Given the description of an element on the screen output the (x, y) to click on. 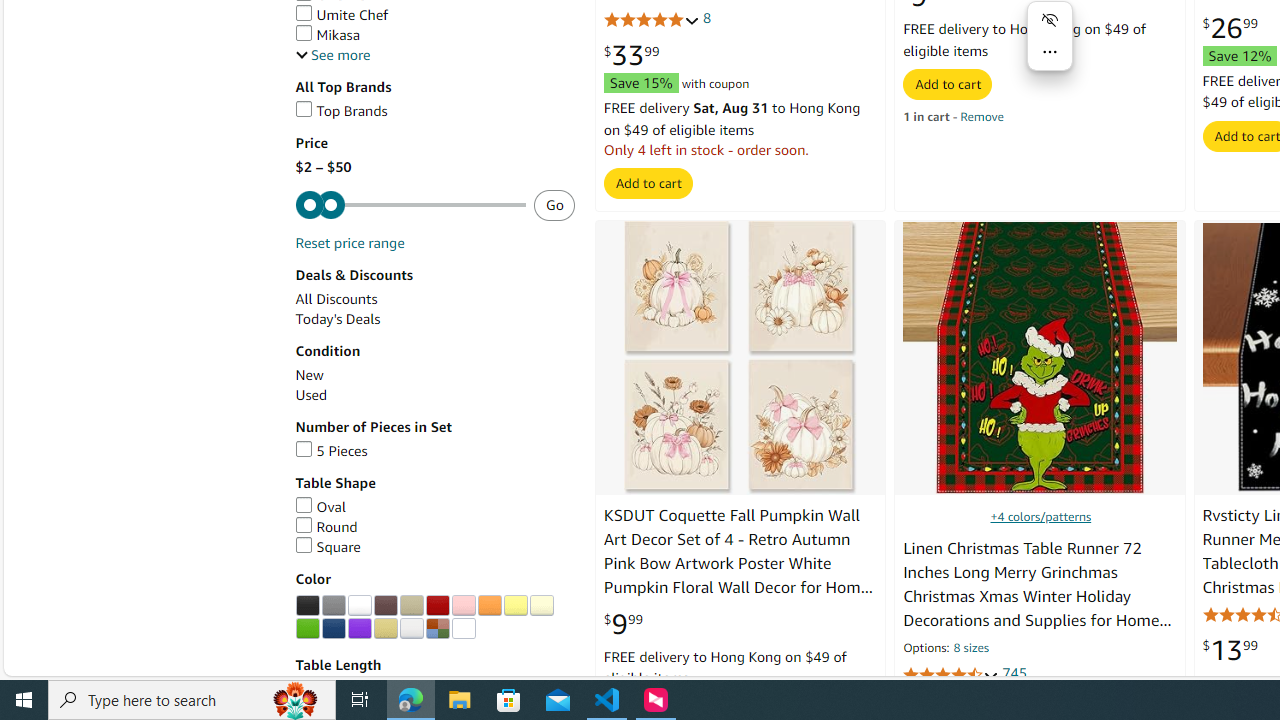
+4 colors/patterns (1040, 516)
4.7 out of 5 stars (950, 675)
Green (307, 628)
Reset price range (349, 243)
5 Pieces (331, 450)
All Discounts (335, 299)
Round (326, 526)
AutomationID: p_n_feature_twenty_browse-bin/3254113011 (437, 628)
Oval (434, 507)
Ivory (541, 605)
Top Brands (340, 110)
Skip to main search results (88, 666)
